Given the description of an element on the screen output the (x, y) to click on. 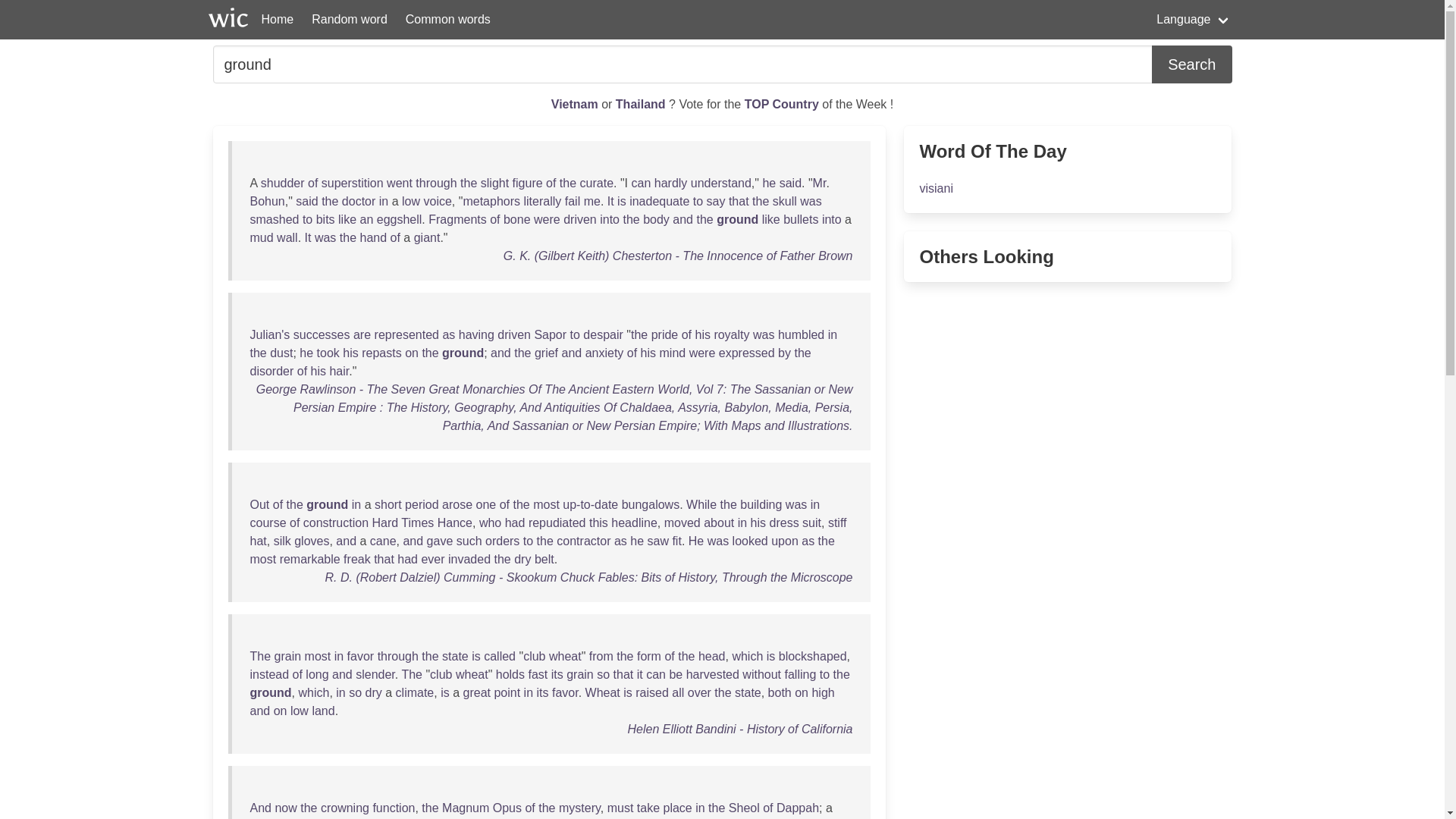
curate (595, 182)
Language (1193, 19)
slight (494, 182)
Click to find the word in context (352, 182)
the (468, 182)
Click to find the word in context (567, 182)
Click to find the word in context (527, 182)
Click to find the word in context (768, 182)
Search (1191, 64)
figure (527, 182)
Click to find the word in context (494, 182)
Click to find the word in context (468, 182)
Vietnam (576, 103)
Click to find the word in context (790, 182)
Click to find the word in context (306, 201)
